Given the description of an element on the screen output the (x, y) to click on. 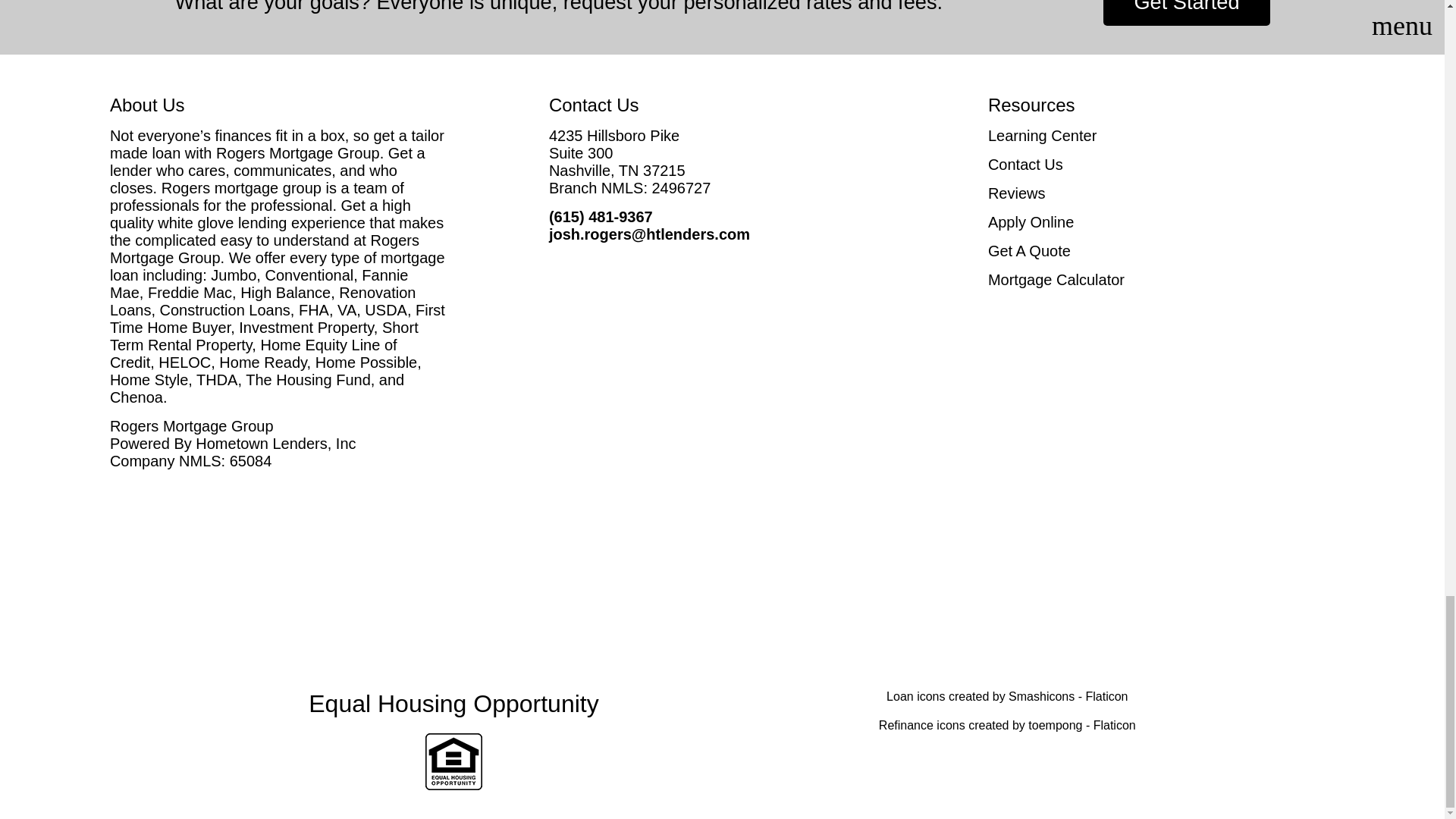
Mortgage Calculator (1161, 280)
Get A Quote (1161, 251)
Get Started (1186, 12)
refinance icons (1007, 725)
Refinance icons created by toempong - Flaticon (1007, 725)
Loan icons created by Smashicons - Flaticon (1006, 696)
loan icons (1006, 696)
Apply Online (1161, 221)
Learning Center (1161, 135)
Reviews (1161, 193)
Contact Us (1161, 164)
